Given the description of an element on the screen output the (x, y) to click on. 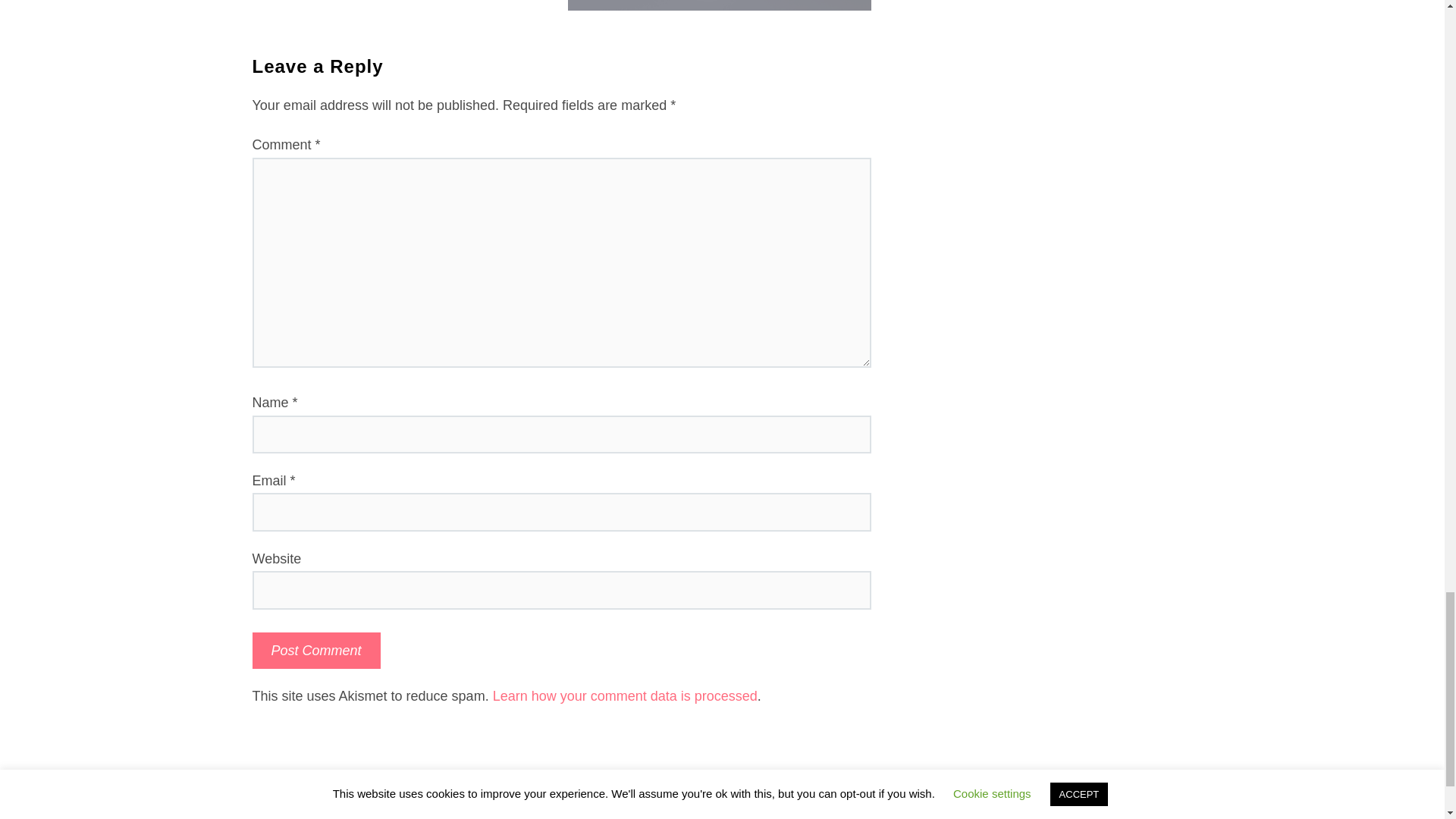
Post Comment (315, 650)
Post Comment (315, 650)
Learn how your comment data is processed (625, 695)
